Given the description of an element on the screen output the (x, y) to click on. 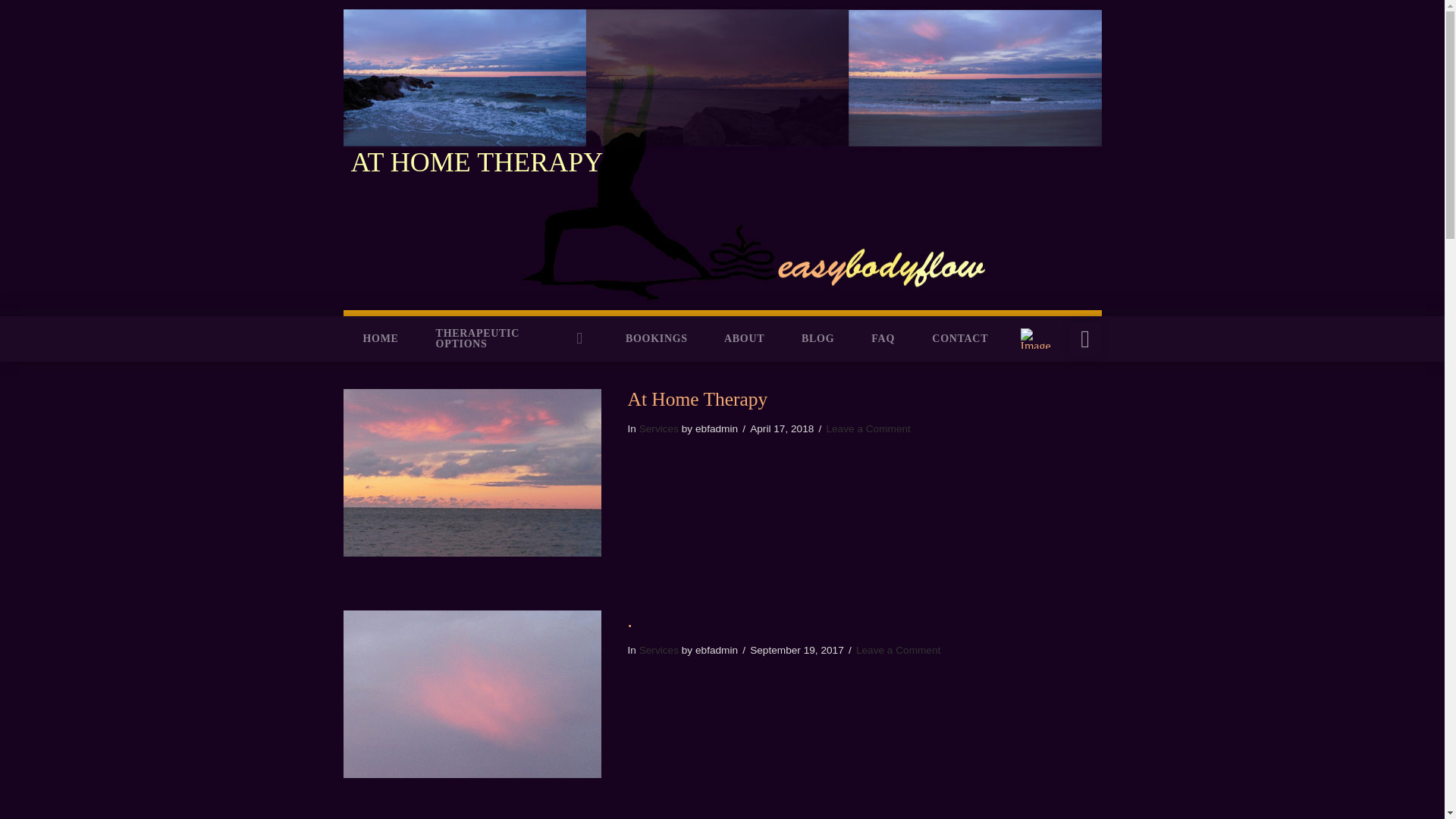
FAQ (881, 338)
At Home Therapy (697, 399)
THERAPEUTIC OPTIONS (510, 338)
Leave a Comment (898, 650)
Permalink to: "At Home Therapy" (697, 399)
CONTACT (958, 338)
BOOKINGS (654, 338)
Services (658, 650)
BLOG (816, 338)
Services (658, 428)
HOME (378, 338)
ABOUT (742, 338)
Leave a Comment (867, 428)
